Given the description of an element on the screen output the (x, y) to click on. 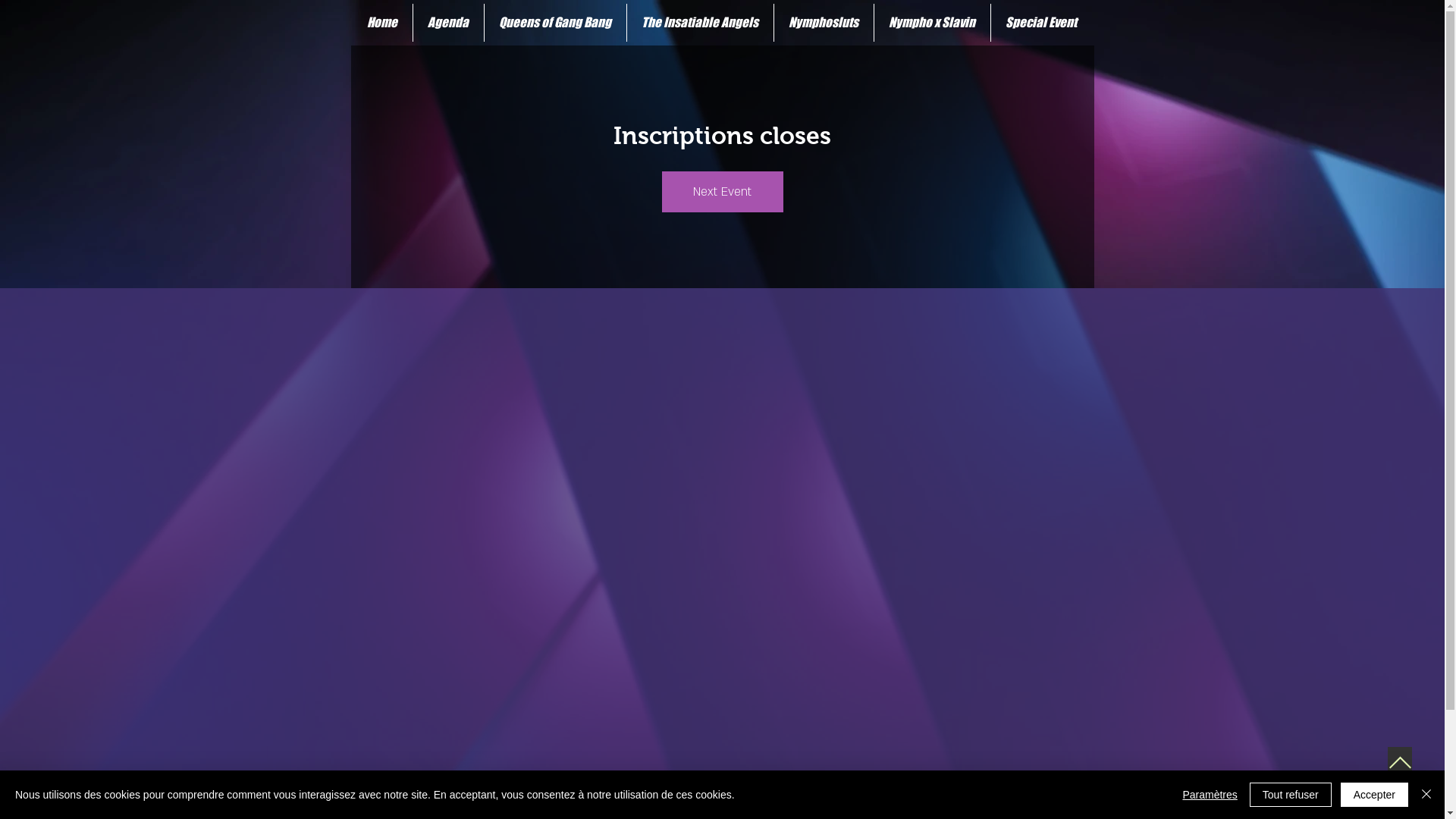
Accepter Element type: text (1374, 794)
Nymphosluts Element type: text (823, 22)
Special Event Element type: text (1041, 22)
Queens of Gang Bang Element type: text (554, 22)
Agenda Element type: text (447, 22)
Next Event Element type: text (721, 191)
Nympho x Slavin Element type: text (931, 22)
Home Element type: text (381, 22)
Tout refuser Element type: text (1290, 794)
The Insatiable Angels Element type: text (699, 22)
